Given the description of an element on the screen output the (x, y) to click on. 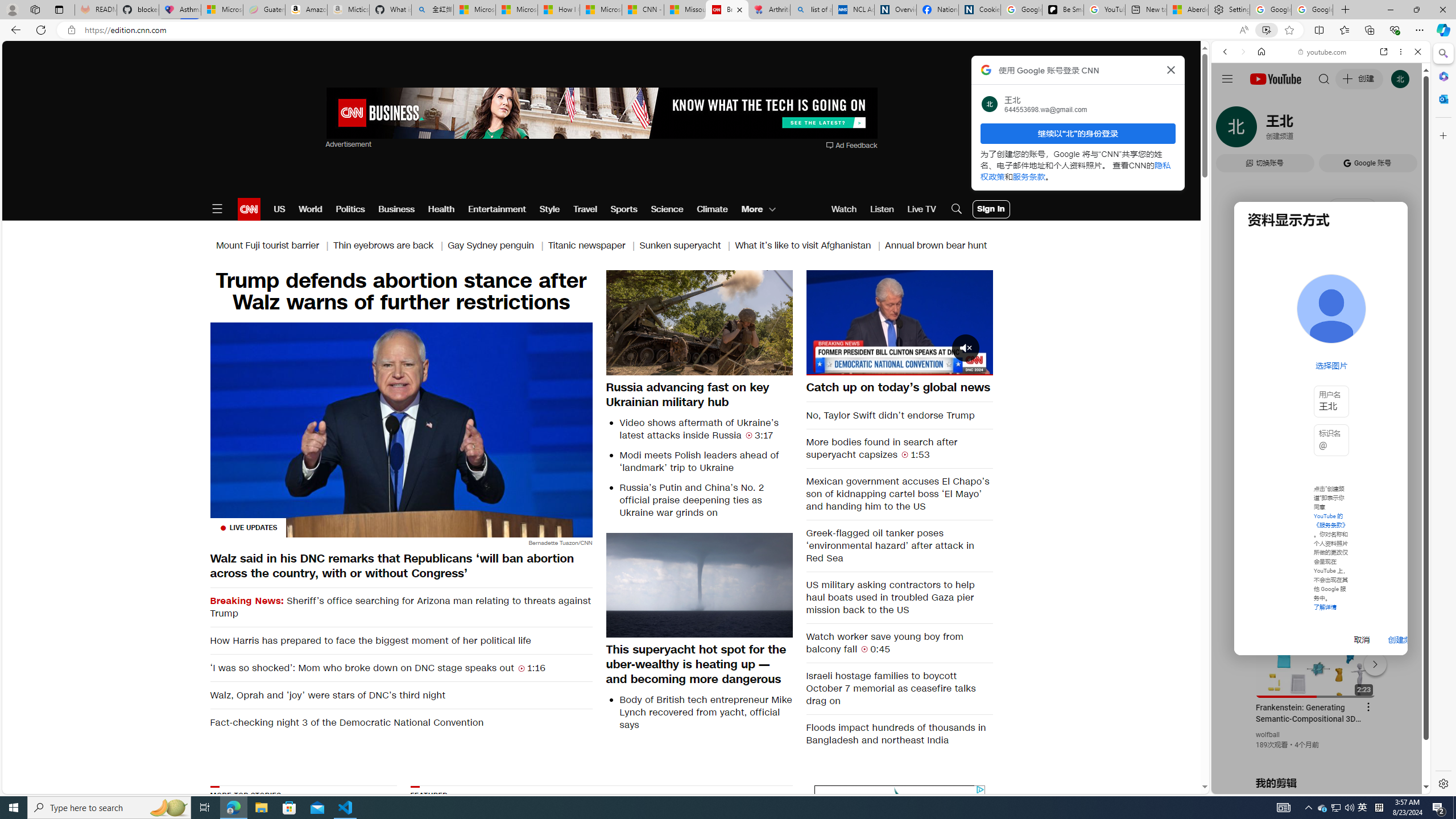
CNN - MSN (642, 9)
US[ju] (1249, 785)
